Given the description of an element on the screen output the (x, y) to click on. 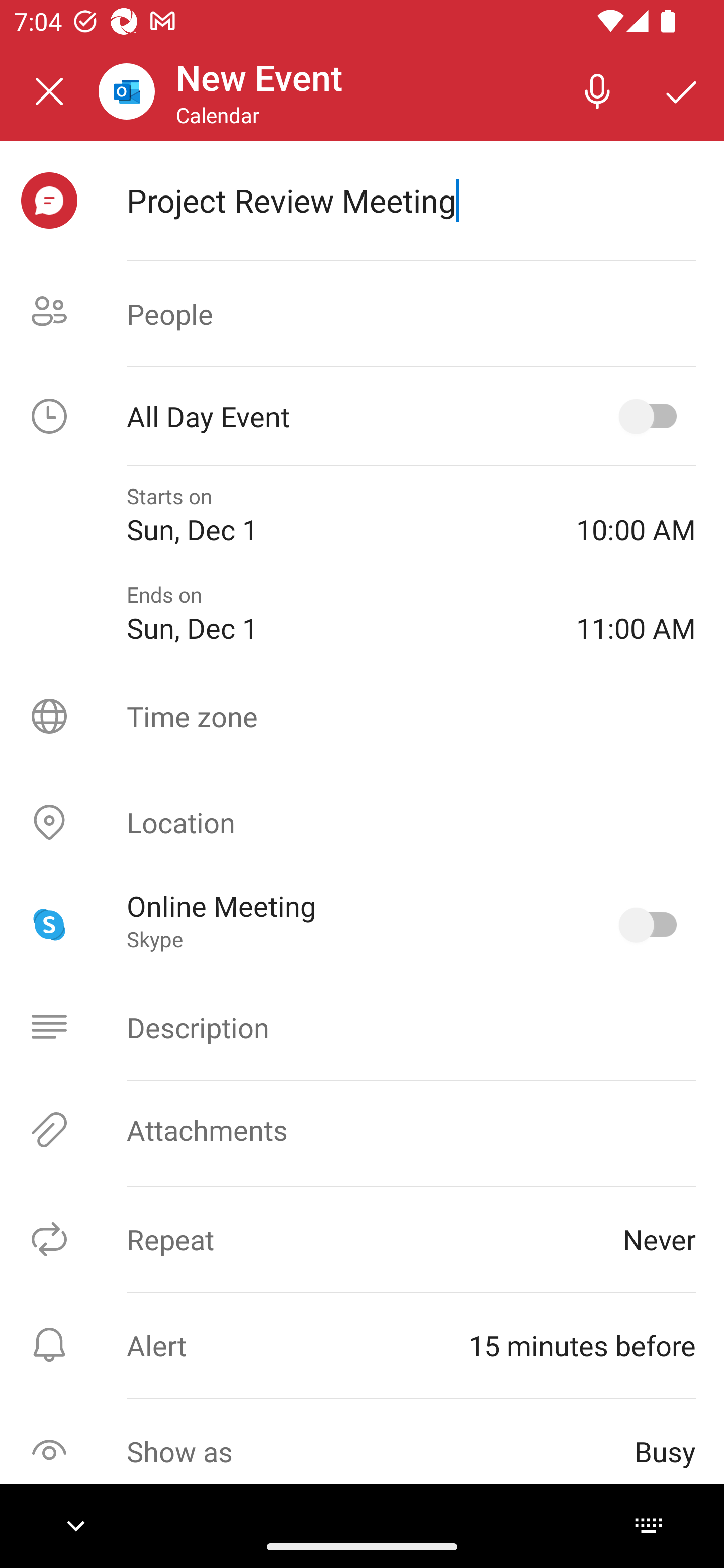
Close (49, 91)
Save (681, 90)
Project Review Meeting (410, 200)
review selected, event icon picker (48, 200)
People (362, 313)
All Day Event (362, 415)
Starts on Sun, Dec 1 (336, 514)
10:00 AM (635, 514)
Ends on Sun, Dec 1 (336, 613)
11:00 AM (635, 613)
Time zone (362, 715)
Location (362, 821)
Online Meeting, Skype selected (651, 923)
Description (362, 1026)
Attachments (362, 1129)
Repeat Never (362, 1239)
Alert ⁨15 minutes before (362, 1345)
Show as Busy (362, 1450)
